Given the description of an element on the screen output the (x, y) to click on. 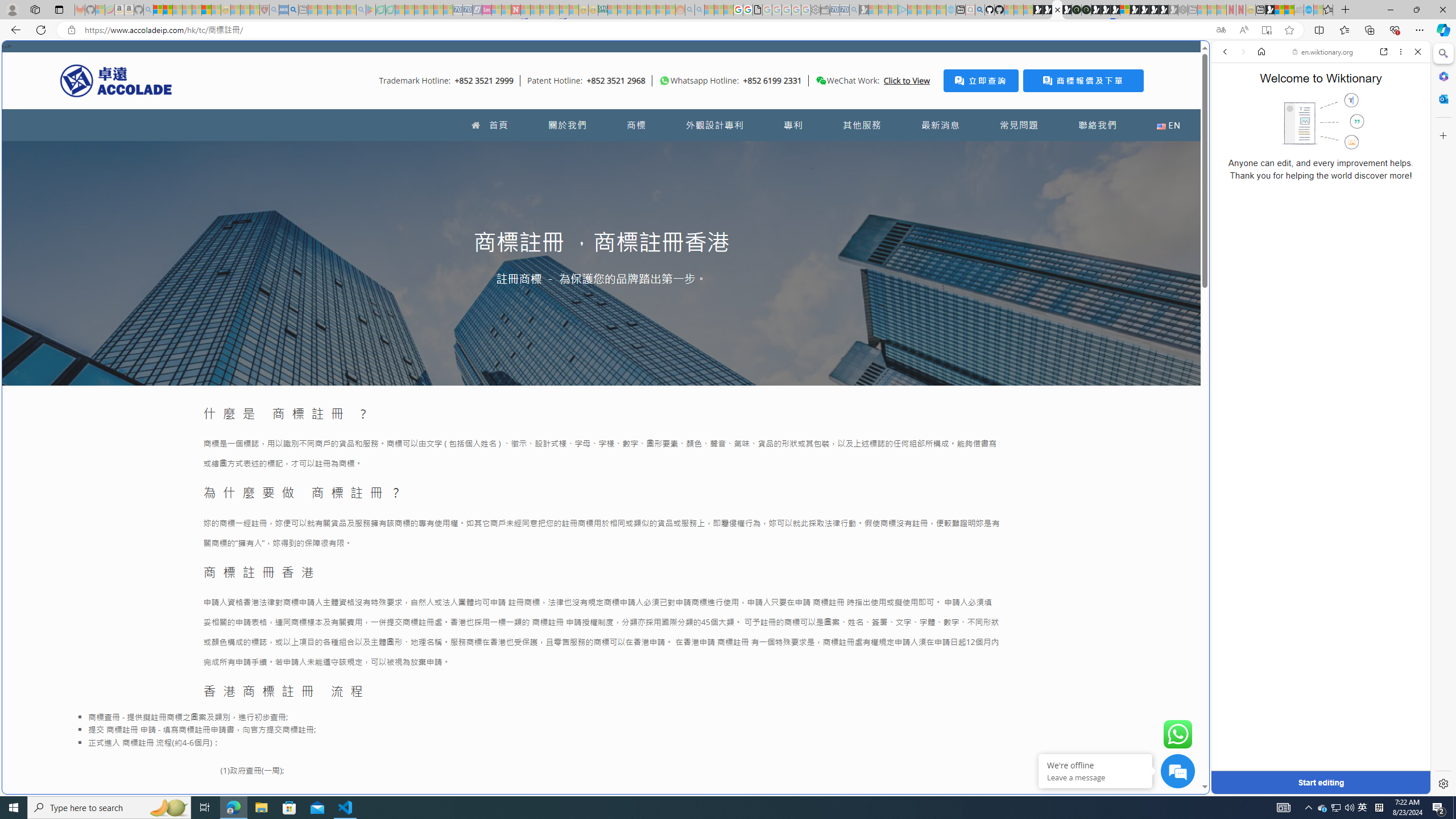
World - MSN (727, 389)
utah sues federal government - Search (292, 9)
Future Focus Report 2024 (1085, 9)
Close Customize pane (1442, 135)
google_privacy_policy_zh-CN.pdf (1118, 683)
Microsoft Start Gaming - Sleeping (863, 9)
